Given the description of an element on the screen output the (x, y) to click on. 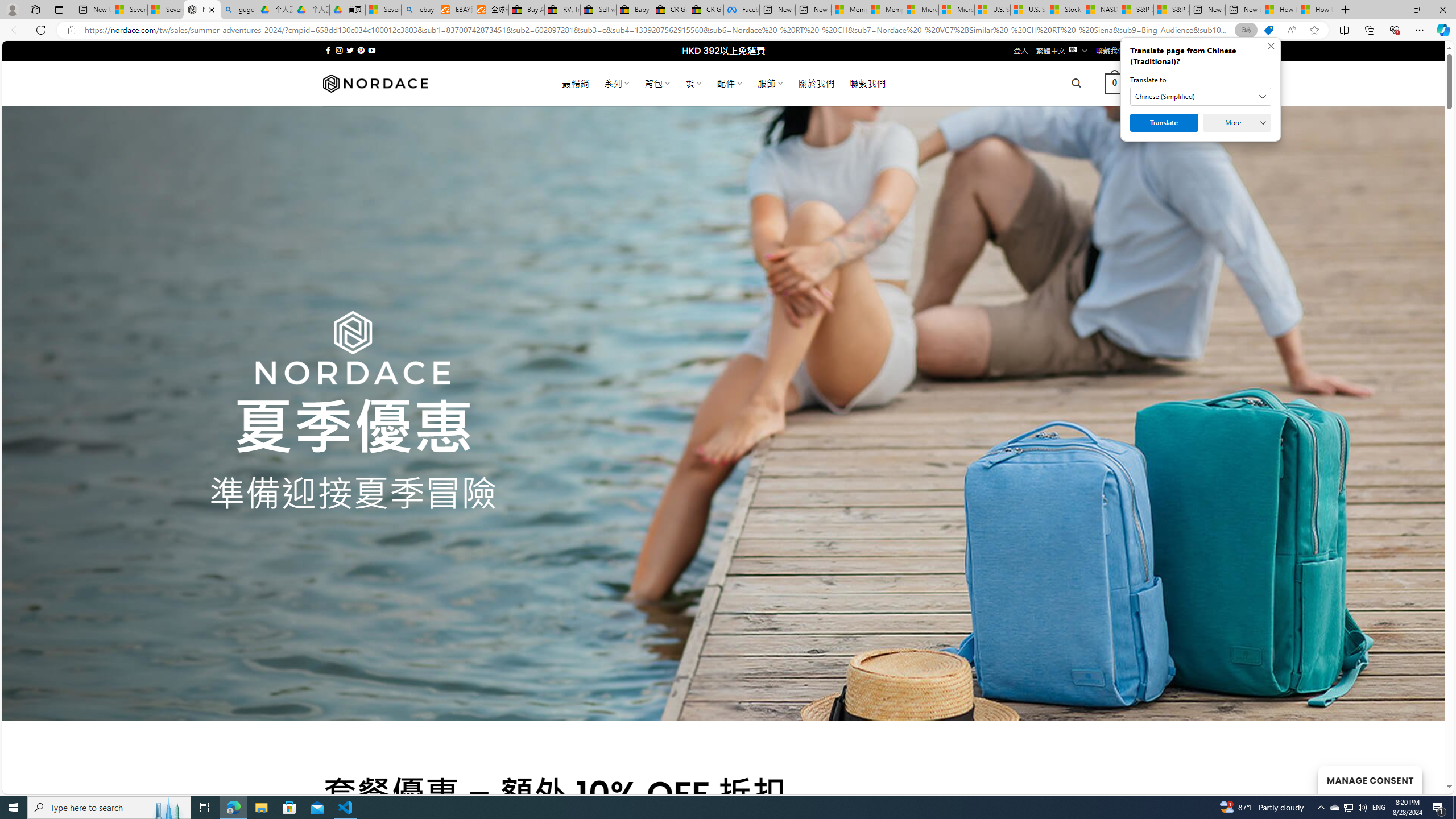
Translate (1163, 122)
Sell worldwide with eBay (598, 9)
New tab (1243, 9)
RV, Trailer & Camper Steps & Ladders for sale | eBay (562, 9)
Refresh (40, 29)
Collections (1369, 29)
Personal Profile (12, 9)
This site has coupons! Shopping in Microsoft Edge (1268, 29)
